Given the description of an element on the screen output the (x, y) to click on. 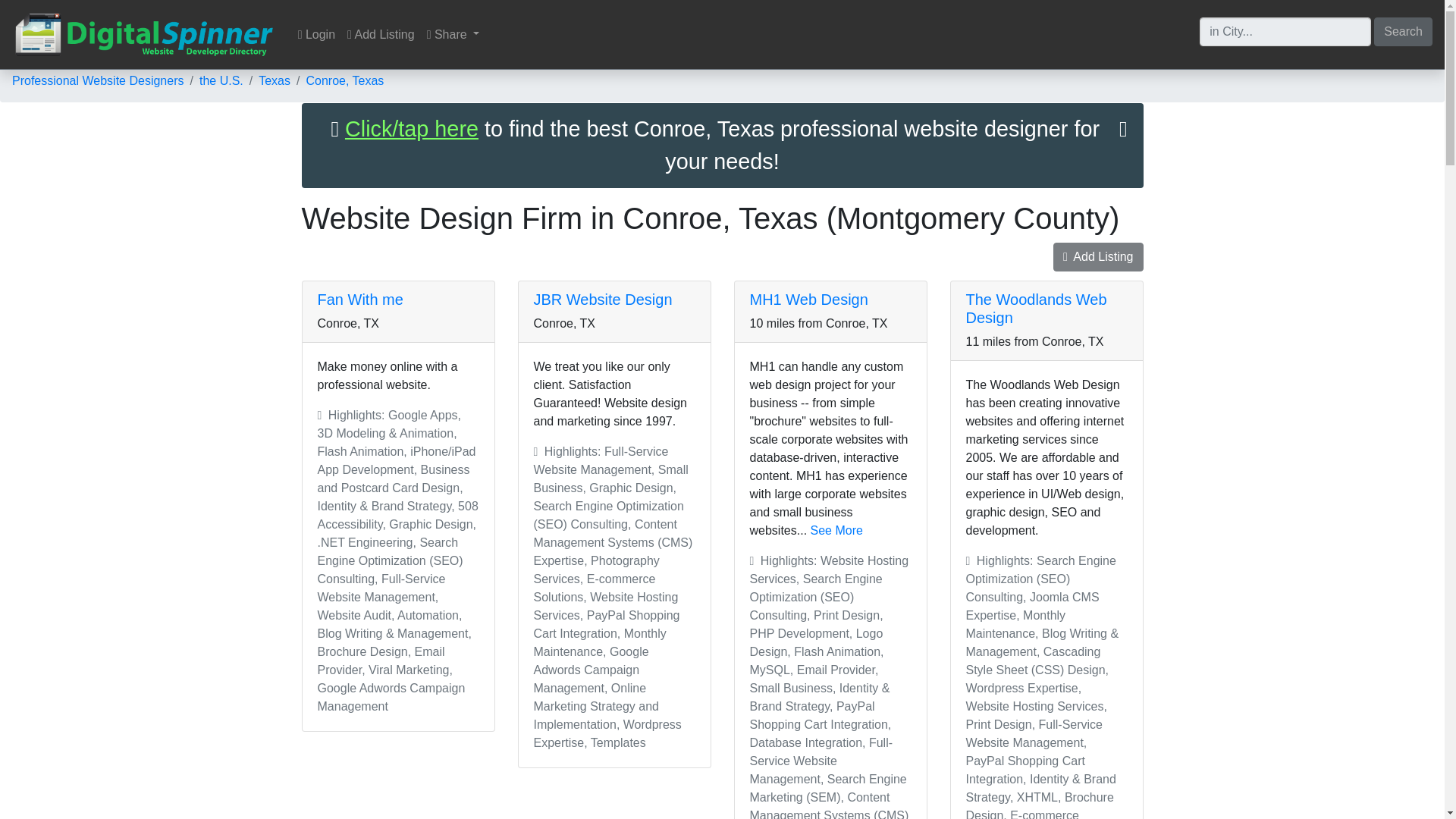
The Woodlands Web Design (1036, 308)
MH1 Web Design (808, 299)
Texas (274, 80)
See More (836, 530)
JBR Website Design (603, 299)
Login (316, 34)
Add Listing (380, 34)
Professional Website Designers (97, 80)
Search (1403, 30)
Fan With me (360, 299)
